Given the description of an element on the screen output the (x, y) to click on. 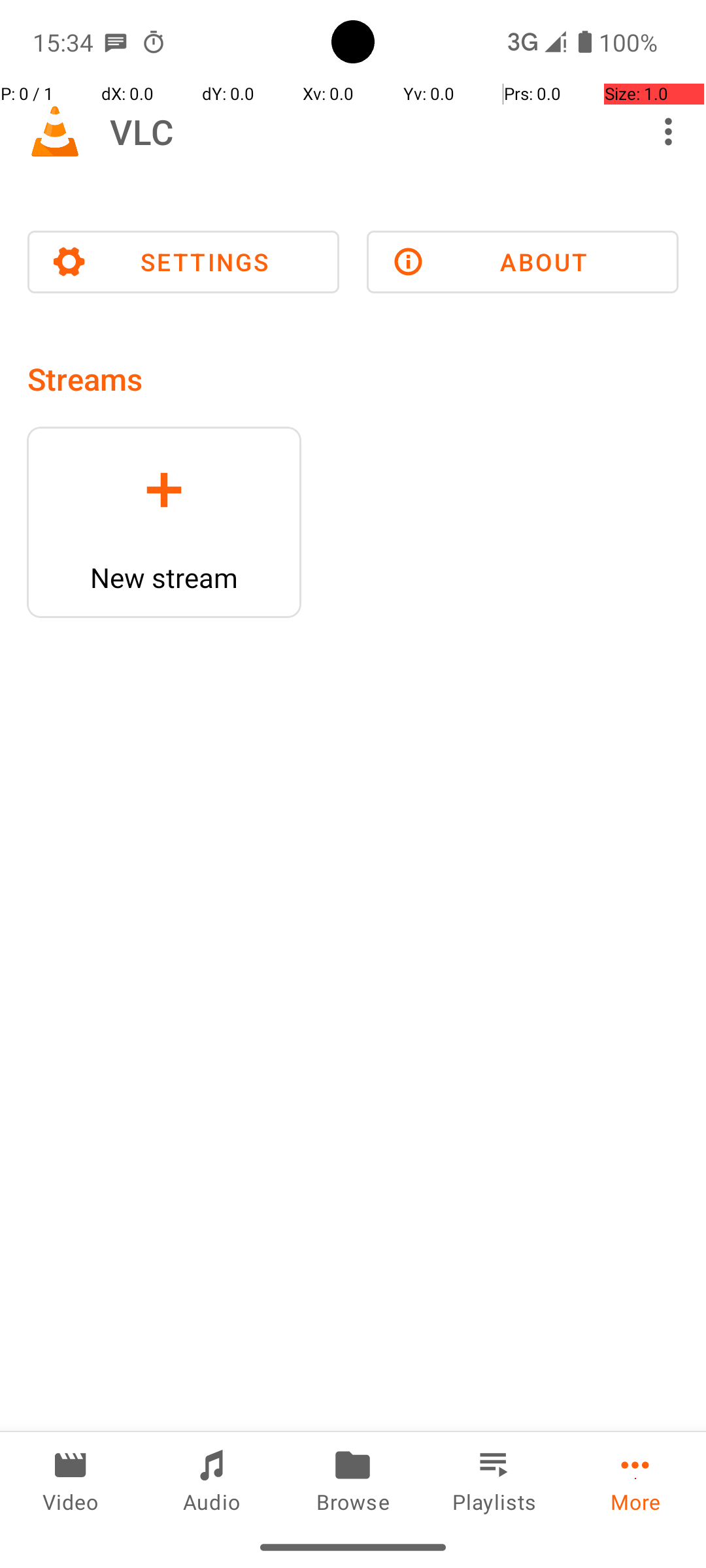
SETTINGS Element type: android.widget.Button (183, 261)
ABOUT Element type: android.widget.Button (522, 261)
Streams Element type: android.widget.TextView (84, 378)
New stream Element type: android.widget.TextView (163, 576)
